Given the description of an element on the screen output the (x, y) to click on. 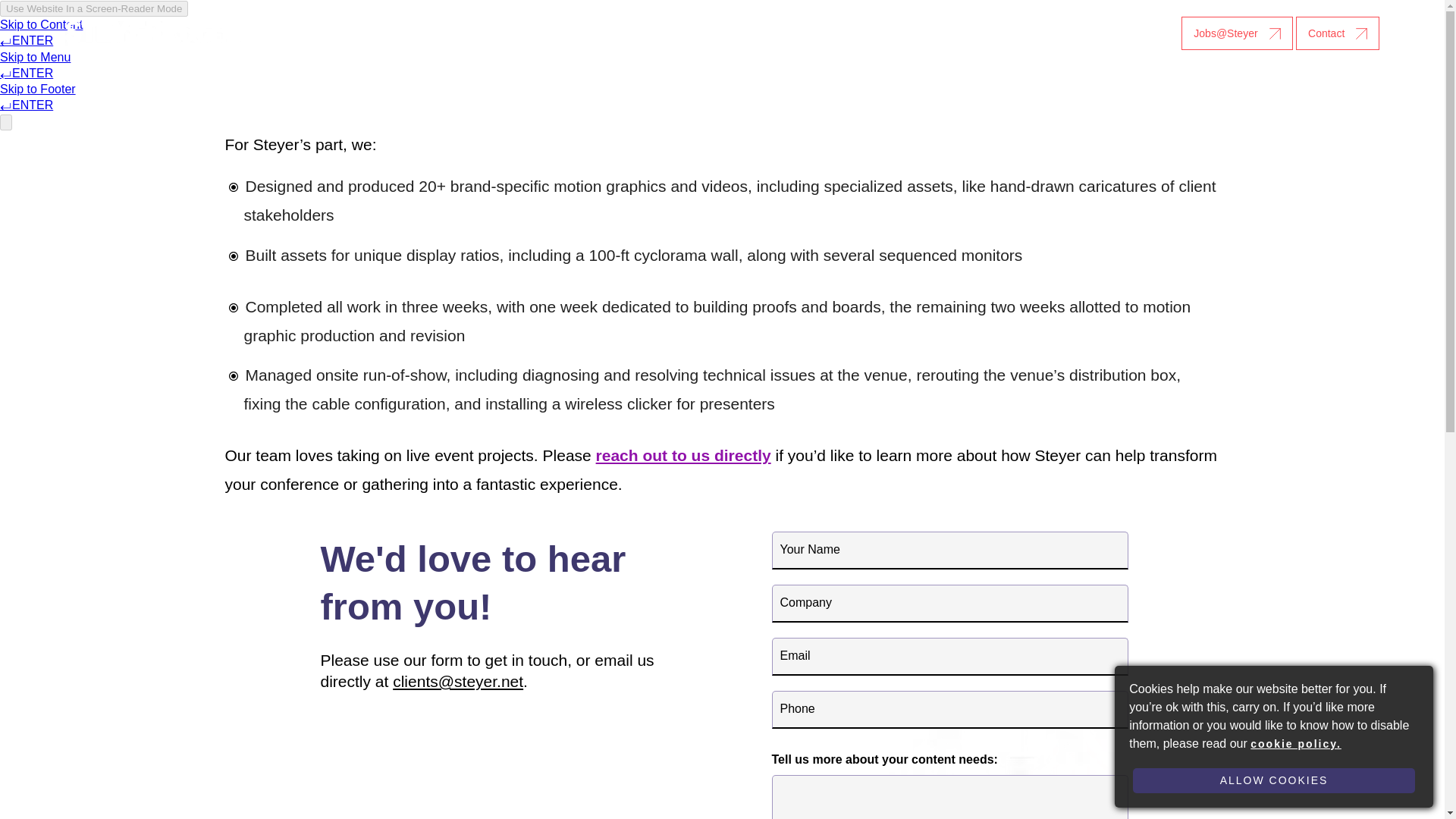
Contact (1336, 32)
Contact - Steyer (1336, 32)
New: Insights (1122, 32)
New: Insights - Steyer (1122, 32)
Ideas (839, 33)
Team (758, 33)
Services (478, 33)
Case Studies (579, 33)
reach out to us directly (683, 455)
Inclusion (675, 33)
